Given the description of an element on the screen output the (x, y) to click on. 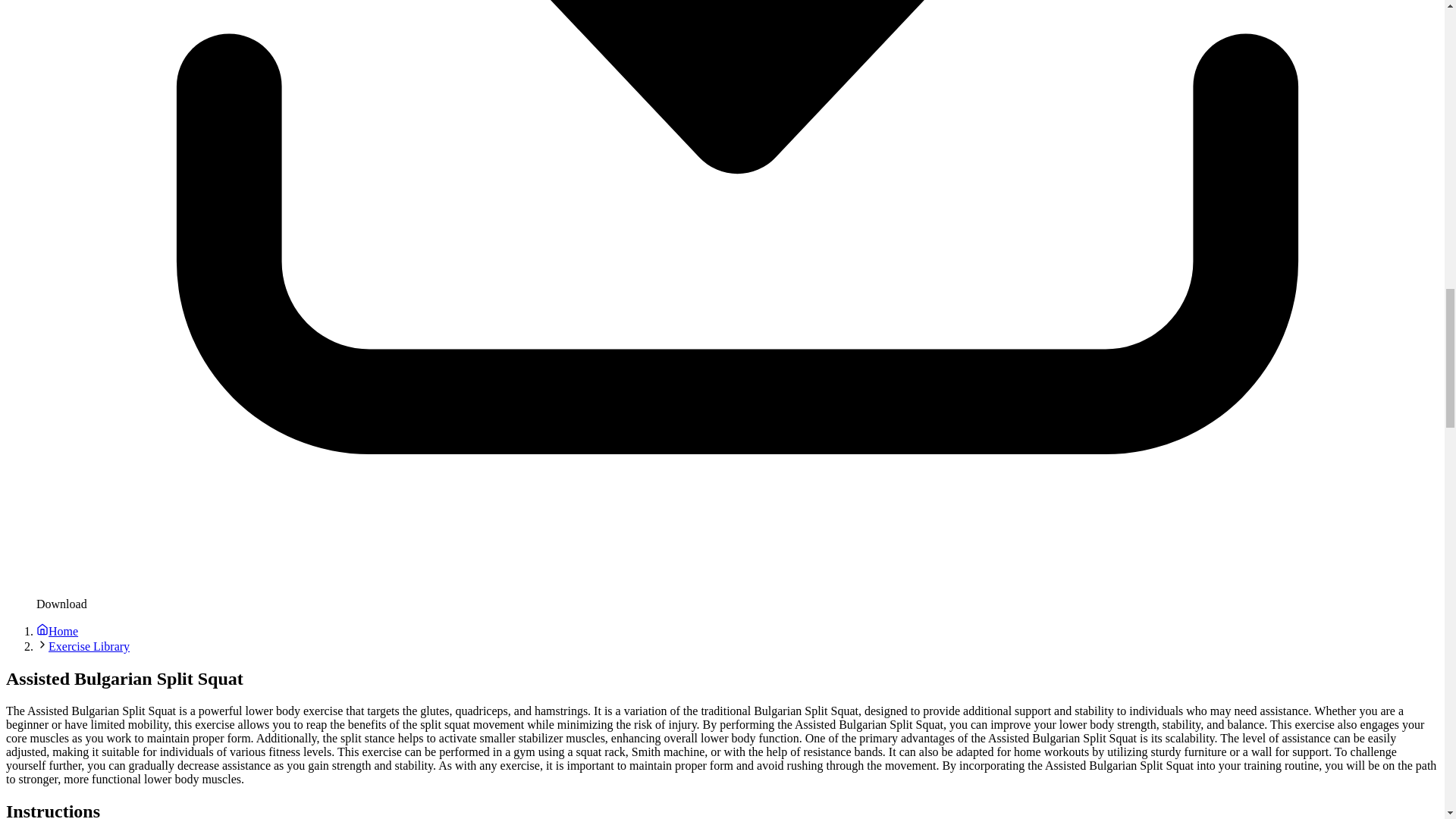
Exercise Library (88, 645)
Home (57, 631)
